Given the description of an element on the screen output the (x, y) to click on. 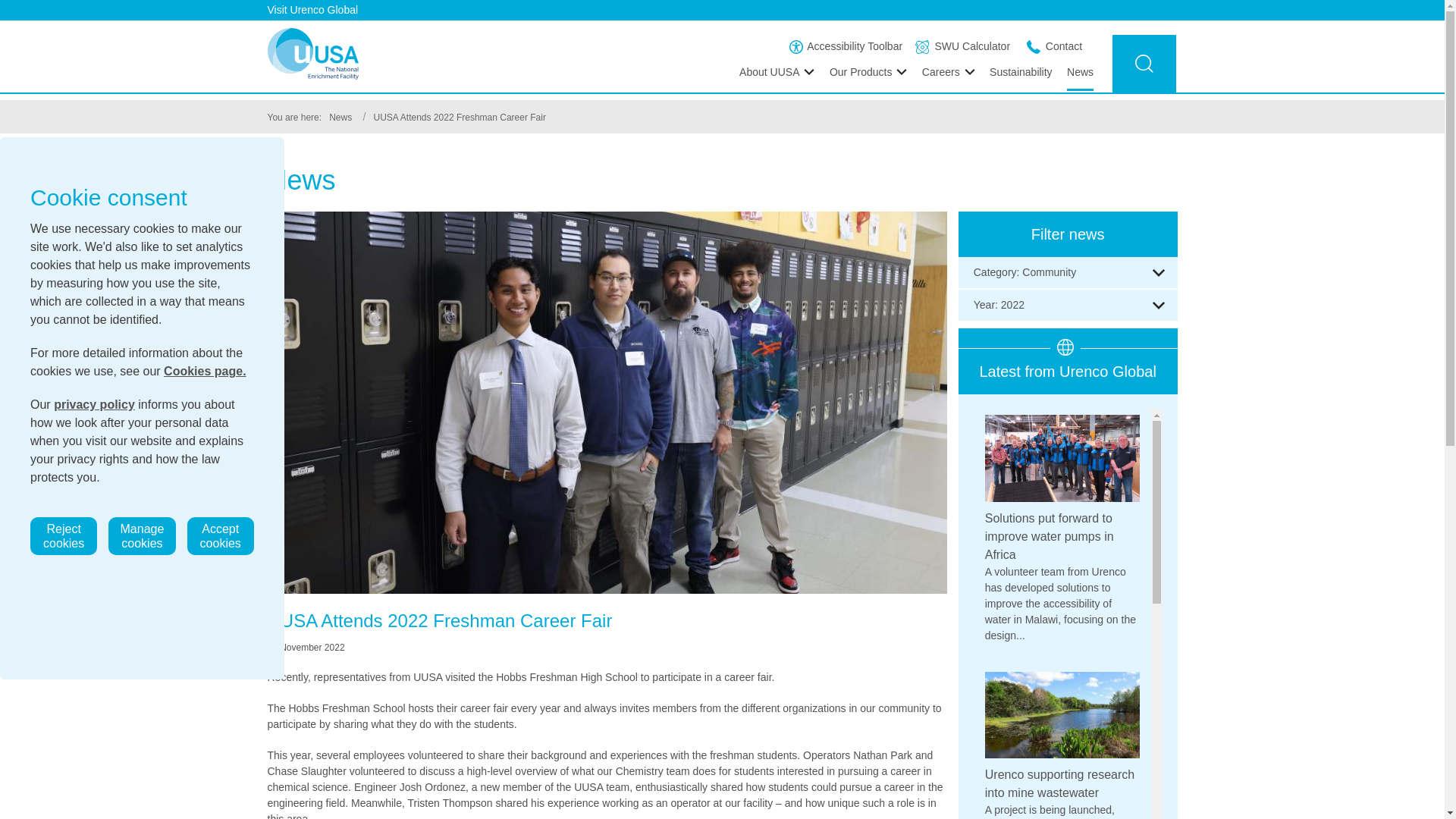
Visit the Urenco Global website (721, 10)
About UUSA (776, 71)
News (340, 117)
accessibilityAccessibility Toolbar (845, 46)
News (1080, 78)
SWU Calculator (962, 46)
Our Products (868, 71)
UUSA Attends 2022 Freshman Career Fair (458, 117)
Our Products (868, 71)
accessibility (796, 47)
About UUSA (776, 71)
Careers (948, 71)
Careers (948, 71)
Visit Urenco Global (721, 10)
Contact (1053, 46)
